Given the description of an element on the screen output the (x, y) to click on. 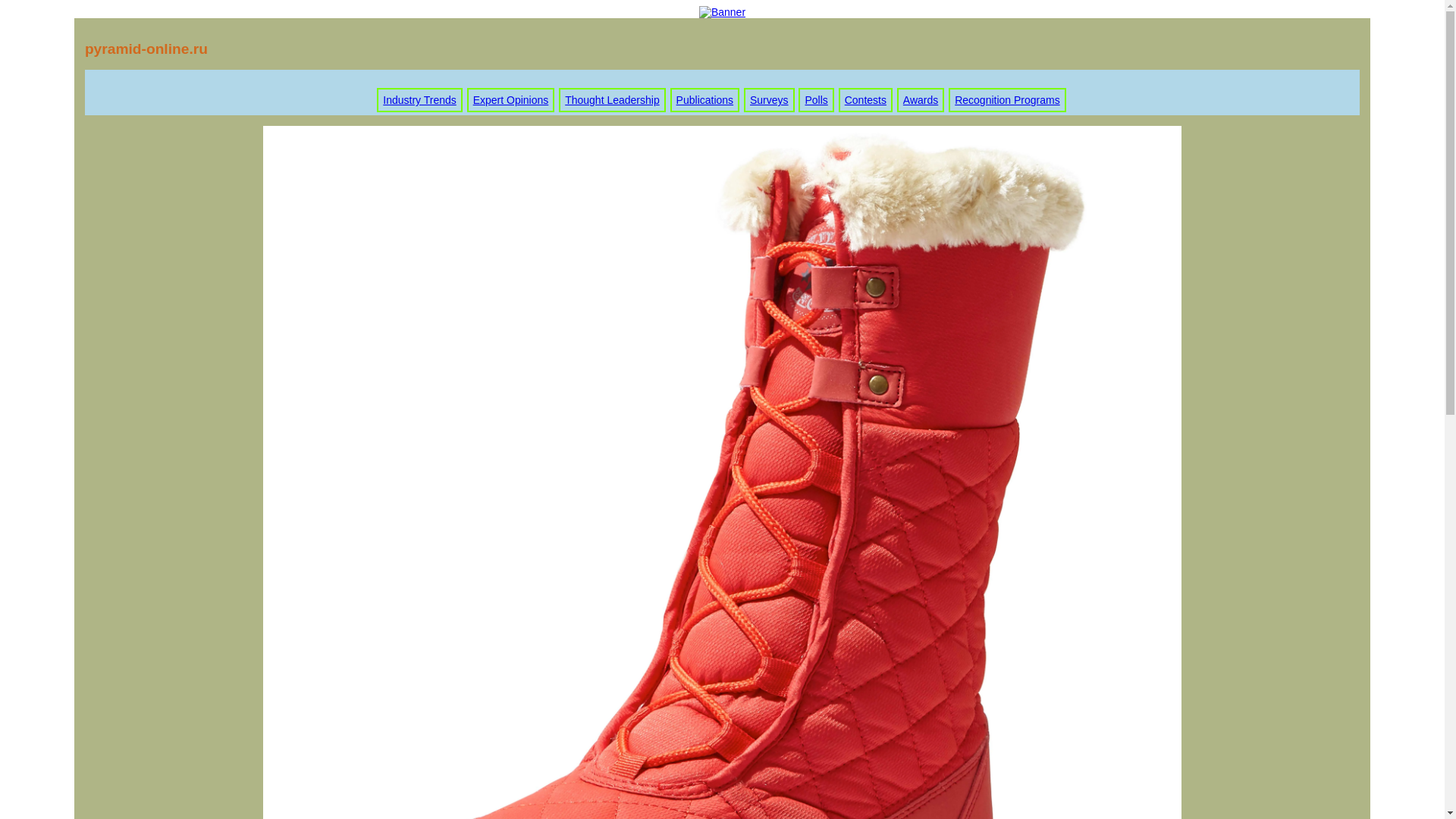
Industry Trends (419, 100)
Recognition Programs (1007, 100)
Contests (865, 100)
Surveys (769, 100)
Thought Leadership (611, 100)
Publications (705, 100)
Polls (816, 100)
Expert Opinions (510, 100)
Awards (919, 100)
